Given the description of an element on the screen output the (x, y) to click on. 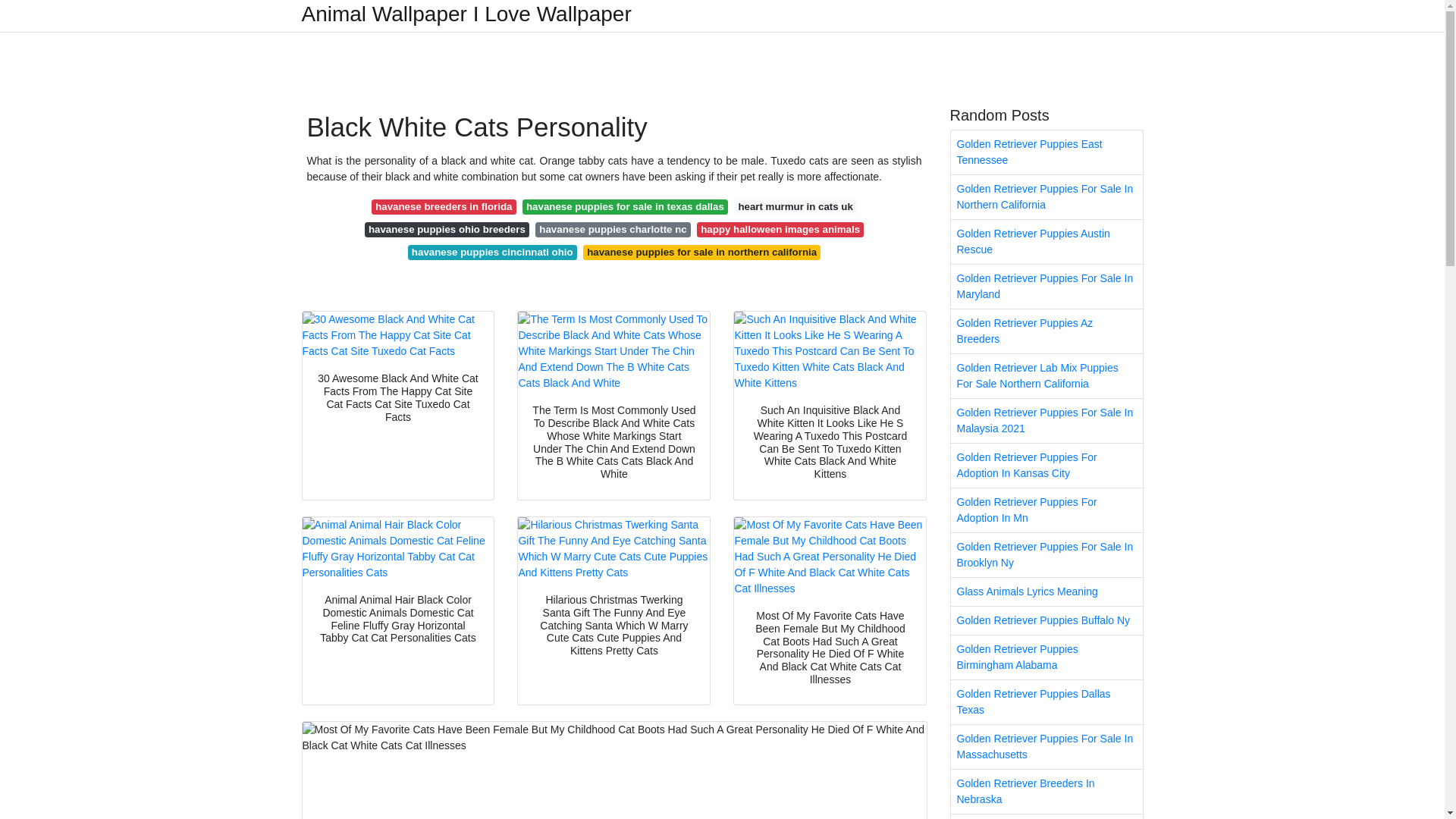
havanese puppies charlotte nc (612, 229)
Golden Retriever Puppies For Sale In Malaysia 2021 (1046, 420)
Golden Retriever Puppies For Sale In Brooklyn Ny (1046, 555)
Animal Wallpaper I Love Wallpaper (466, 13)
Golden Retriever Puppies East Tennessee (1046, 152)
havanese puppies for sale in northern california (702, 252)
Golden Retriever Puppies Austin Rescue (1046, 241)
Golden Retriever Puppies For Sale In Maryland (1046, 286)
heart murmur in cats uk (795, 206)
Animal Wallpaper I Love Wallpaper (466, 13)
